Given the description of an element on the screen output the (x, y) to click on. 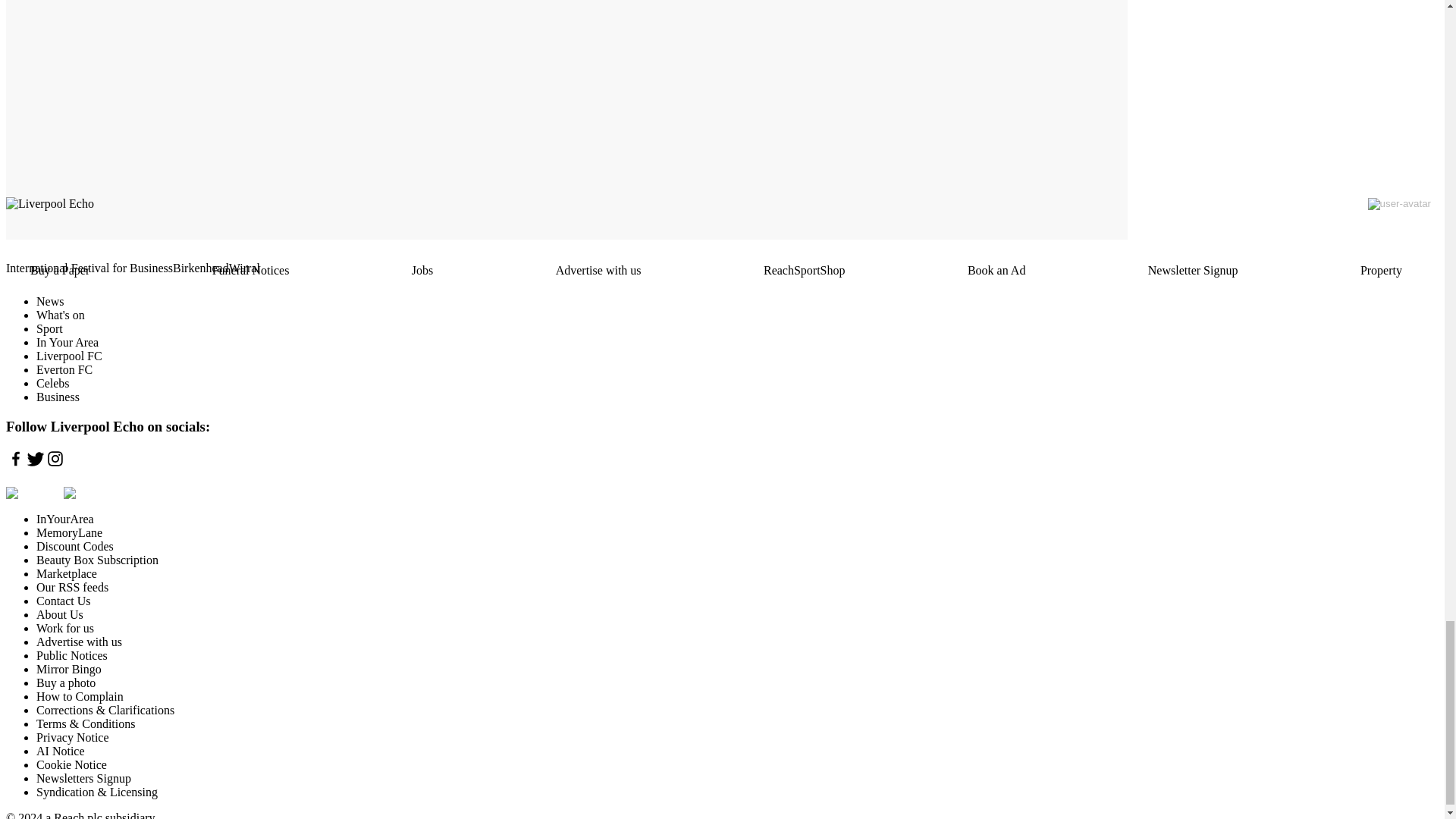
Wirral (244, 268)
Business (58, 396)
Birkenhead (200, 268)
Celebs (52, 382)
News (50, 300)
Everton FC (64, 369)
In Your Area (67, 341)
Sport (49, 328)
International Festival for Business (89, 268)
What's on (60, 314)
